Given the description of an element on the screen output the (x, y) to click on. 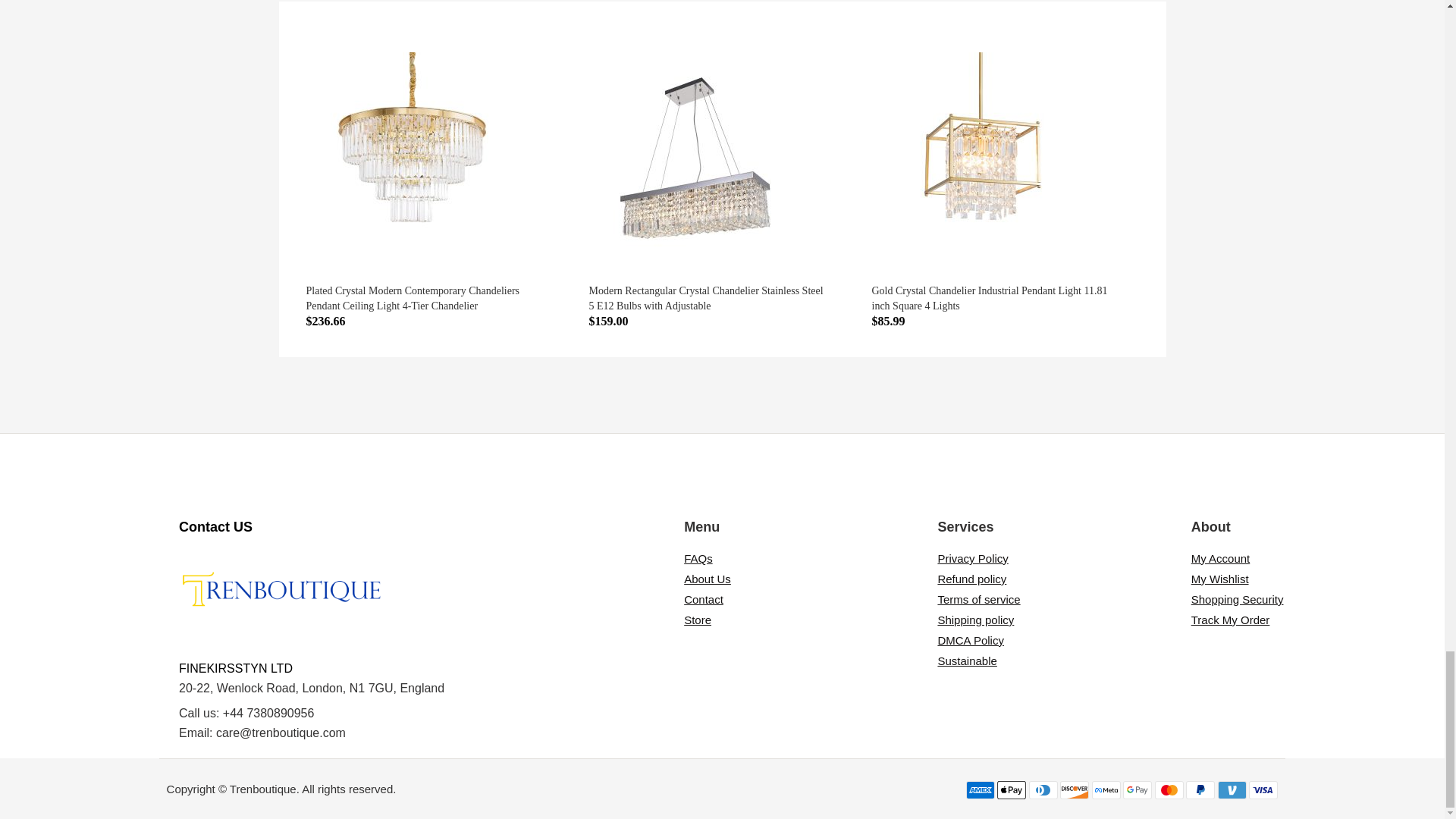
Venmo (1231, 790)
PayPal (1200, 790)
Mastercard (1168, 790)
Discover (1074, 790)
Google Pay (1136, 790)
Visa (1263, 790)
American Express (980, 790)
Meta Pay (1106, 790)
